Given the description of an element on the screen output the (x, y) to click on. 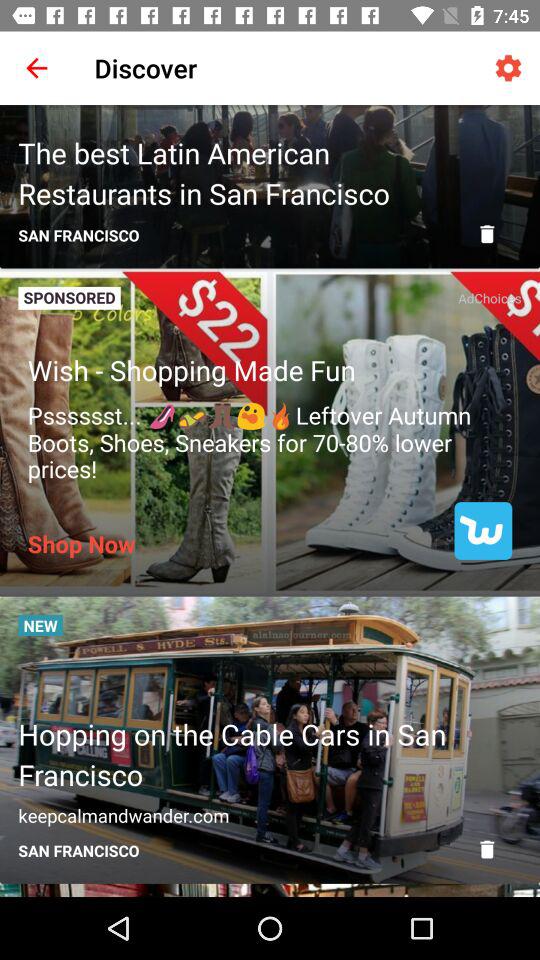
remove article from feed (487, 849)
